Given the description of an element on the screen output the (x, y) to click on. 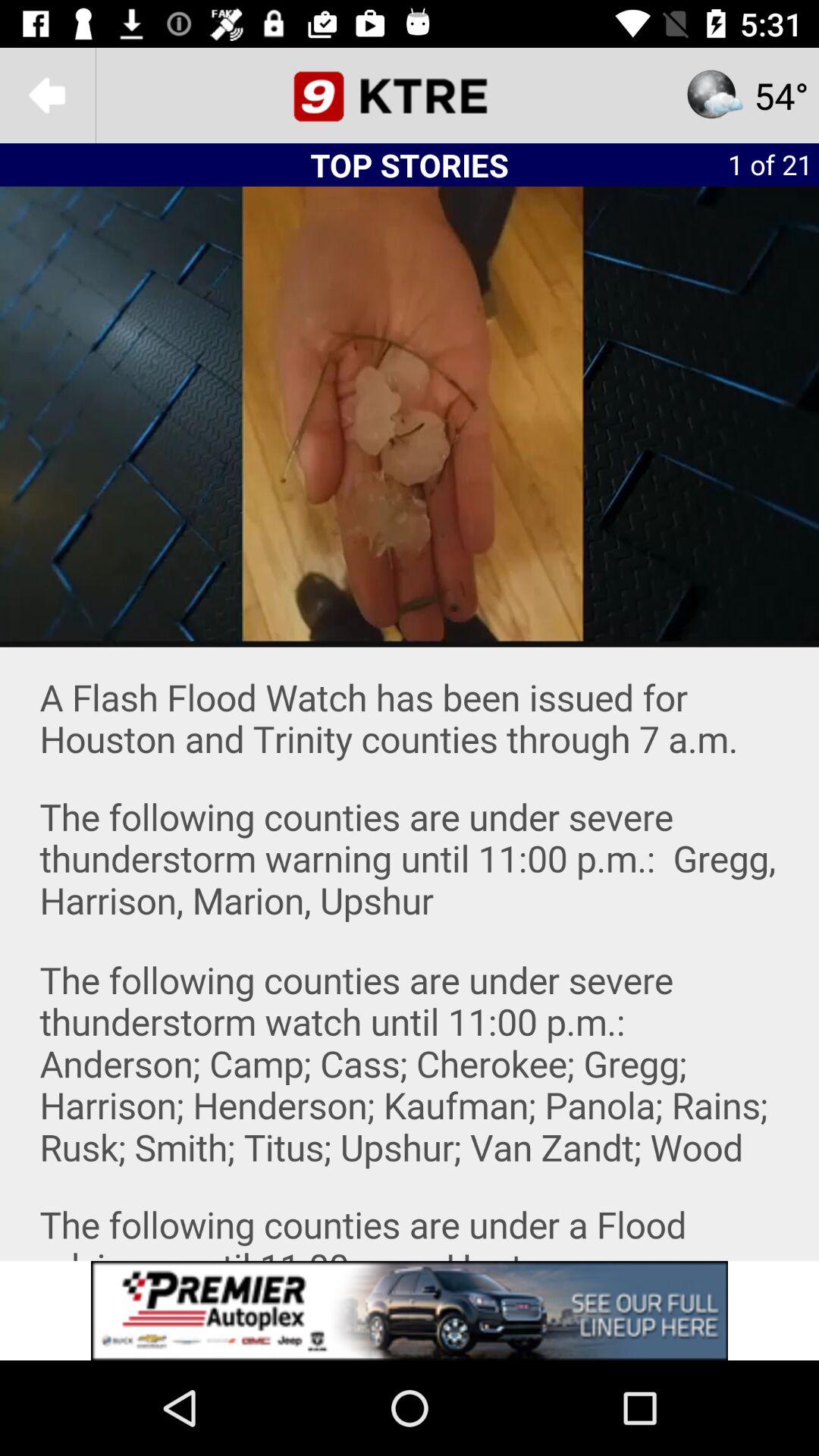
go to home page (409, 95)
